Given the description of an element on the screen output the (x, y) to click on. 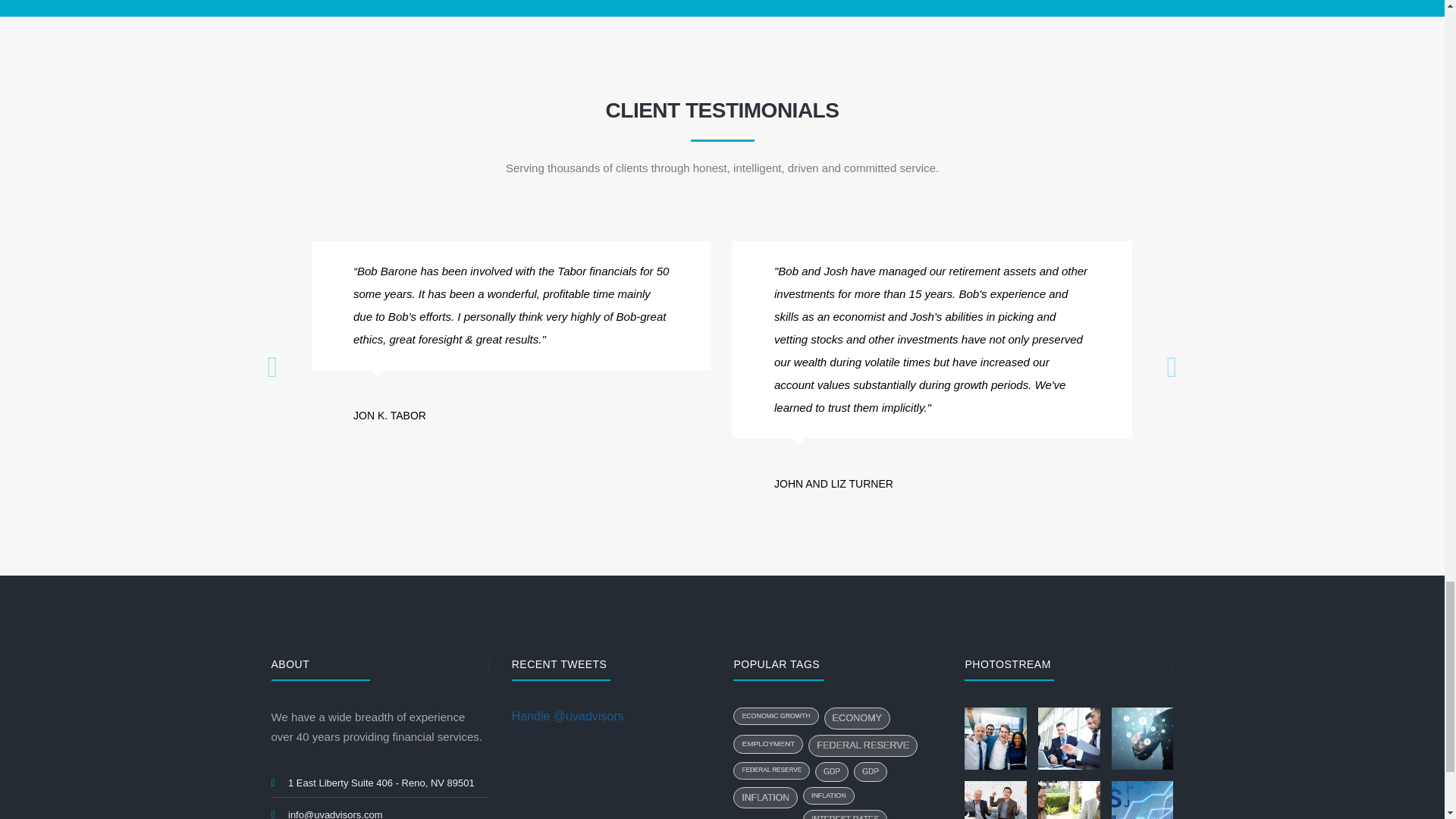
GDP (831, 771)
ECONOMIC GROWTH (775, 715)
ECONOMY (856, 718)
FEDERAL RESERVE (862, 745)
INFLATION (764, 797)
FEDERAL RESERVE (771, 770)
GDP (869, 771)
INTEREST RATES (844, 814)
INFLATION (828, 795)
EMPLOYMENT (768, 743)
